Given the description of an element on the screen output the (x, y) to click on. 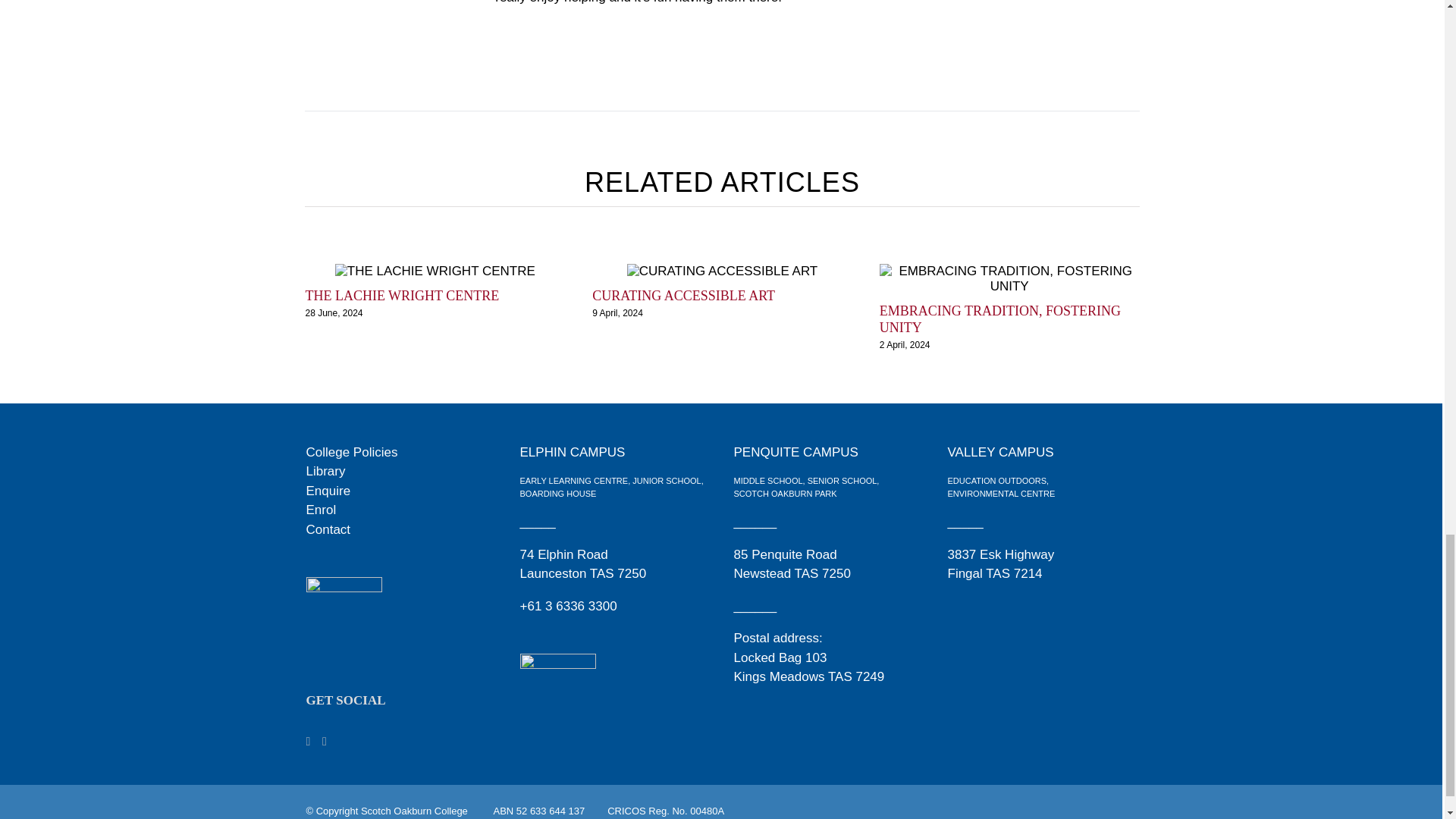
EMBRACING TRADITION, FOSTERING UNITY (1000, 318)
THE LACHIE WRIGHT CENTRE (401, 295)
CURATING ACCESSIBLE ART (683, 295)
